Given the description of an element on the screen output the (x, y) to click on. 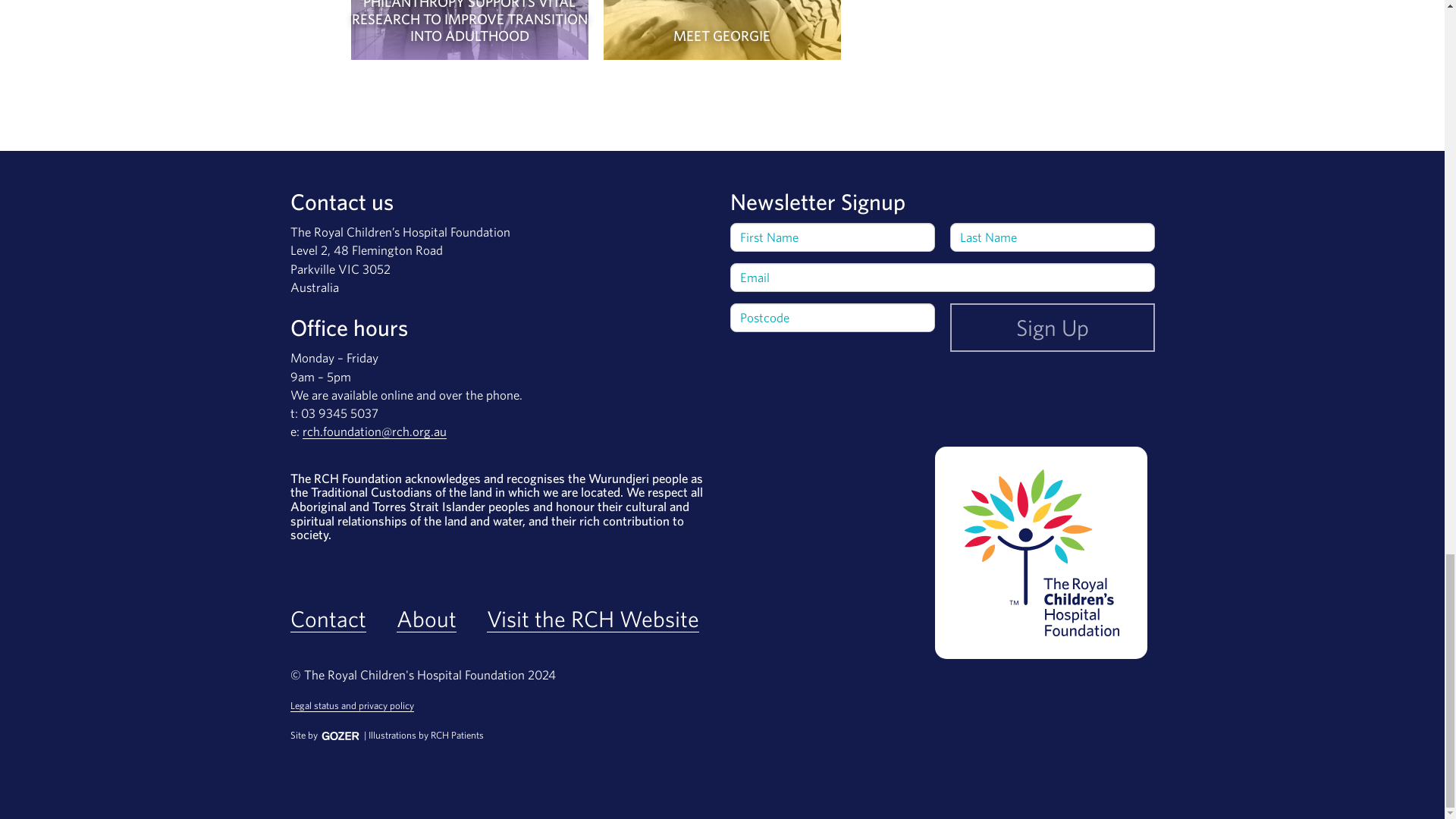
Sign Up (1051, 327)
